Given the description of an element on the screen output the (x, y) to click on. 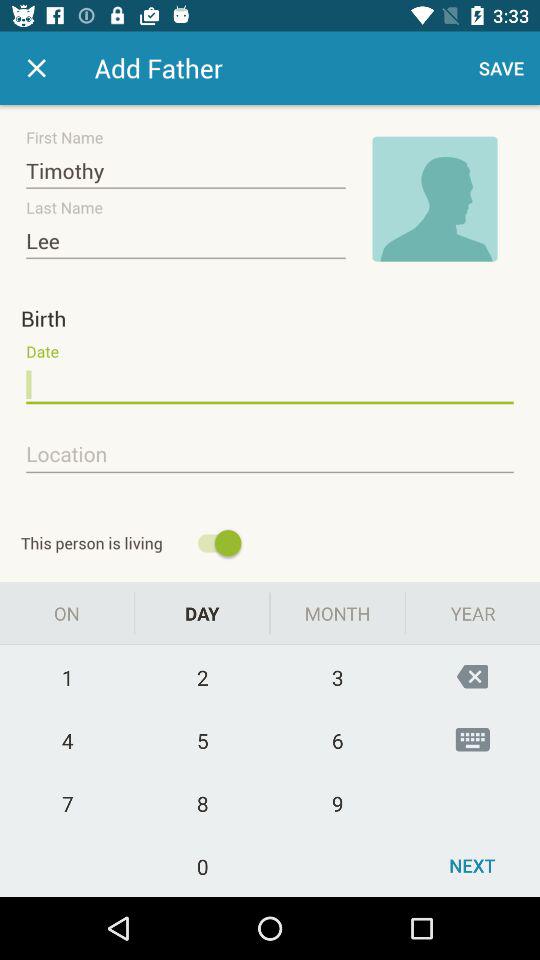
add picture of contact (435, 199)
